Given the description of an element on the screen output the (x, y) to click on. 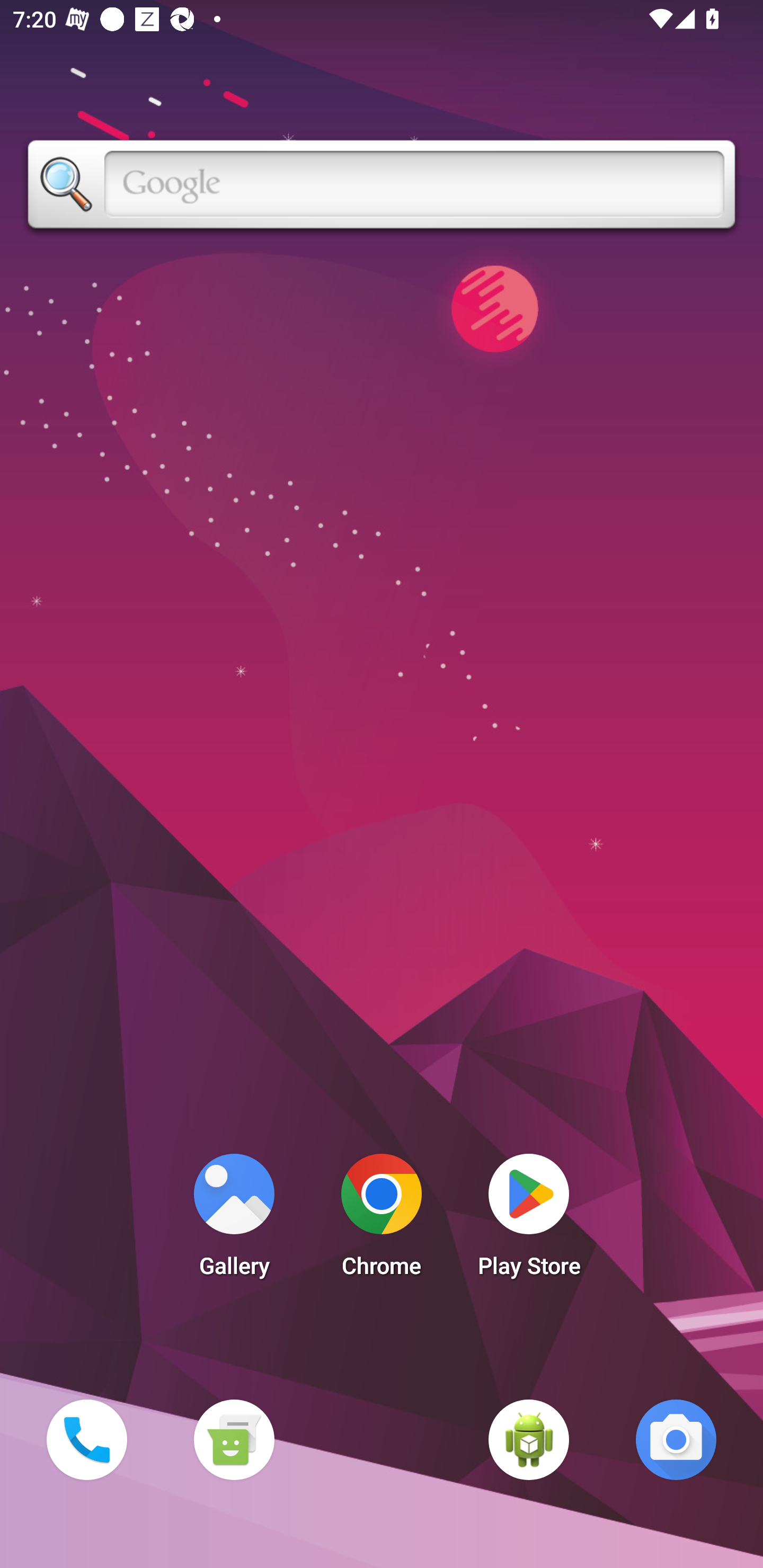
Gallery (233, 1220)
Chrome (381, 1220)
Play Store (528, 1220)
Phone (86, 1439)
Messaging (233, 1439)
WebView Browser Tester (528, 1439)
Camera (676, 1439)
